Given the description of an element on the screen output the (x, y) to click on. 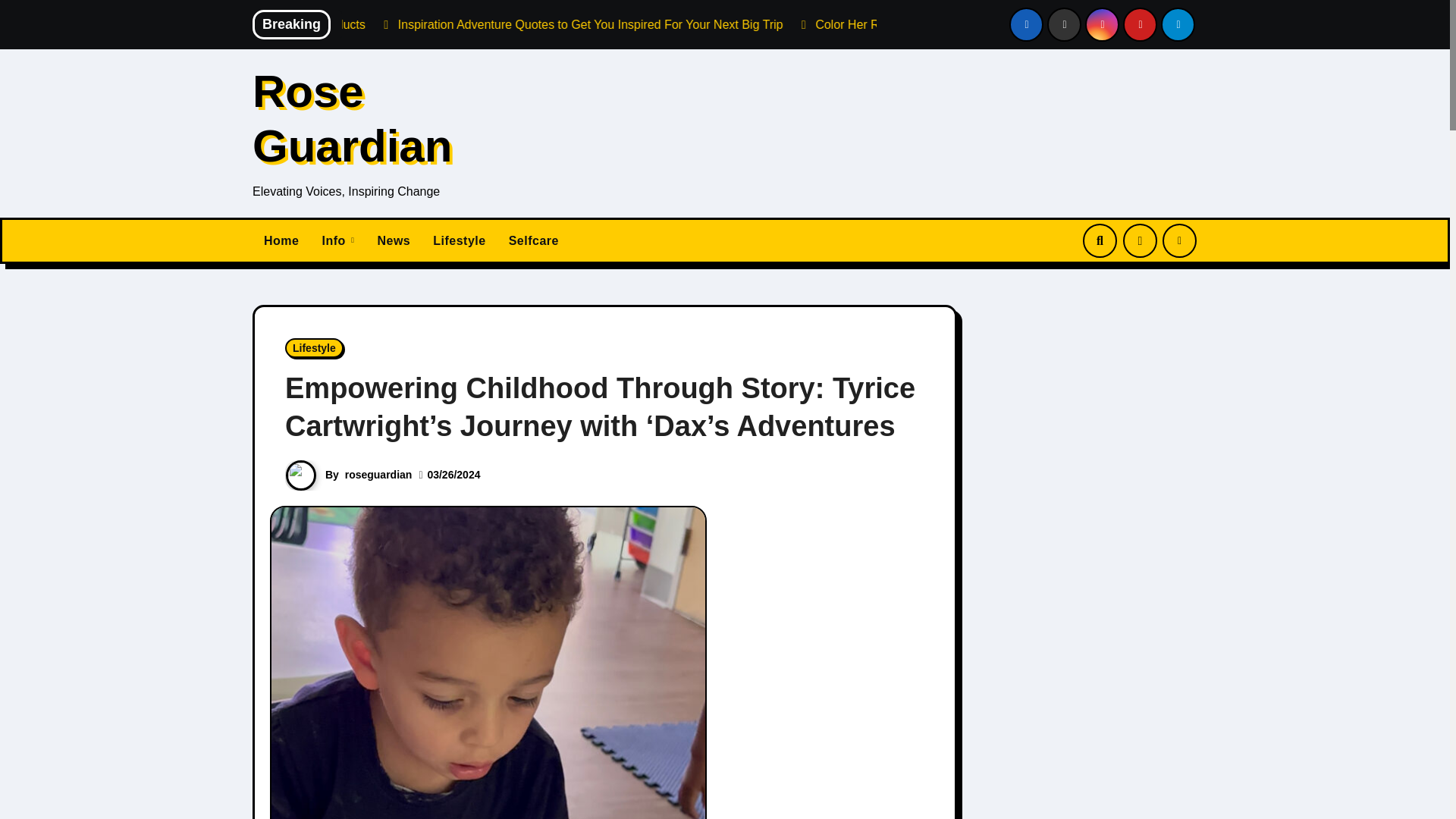
Lifestyle (314, 347)
roseguardian (378, 474)
Info (337, 241)
Info (337, 241)
News (393, 241)
Lifestyle (459, 241)
Home (280, 241)
Home (280, 241)
News (393, 241)
Rose Guardian (351, 118)
Lifestyle (459, 241)
Selfcare (533, 241)
Selfcare (533, 241)
Royal Bee Brothers: Forest Produced Products (391, 24)
